Given the description of an element on the screen output the (x, y) to click on. 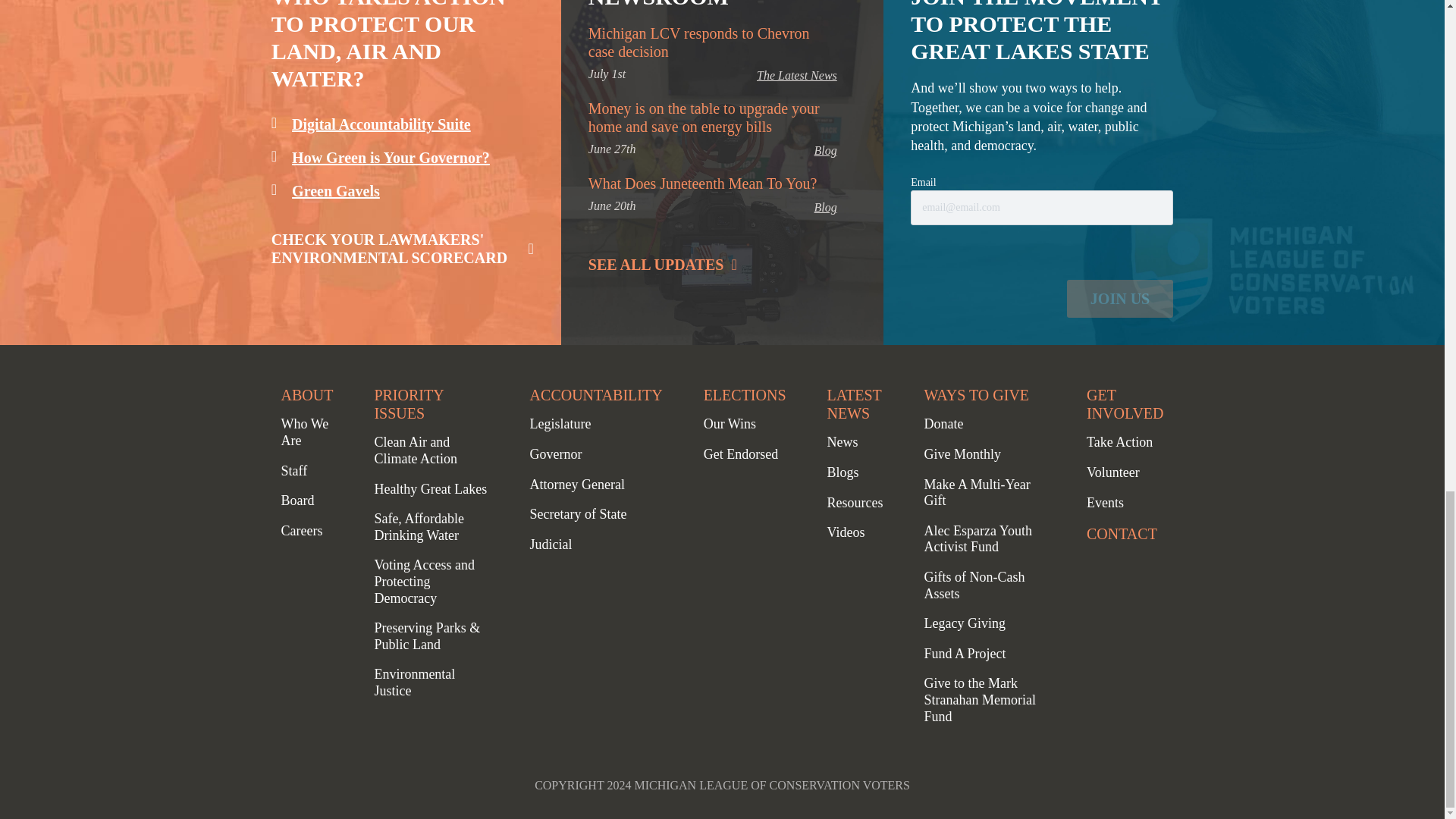
JOIN US (1120, 298)
